Given the description of an element on the screen output the (x, y) to click on. 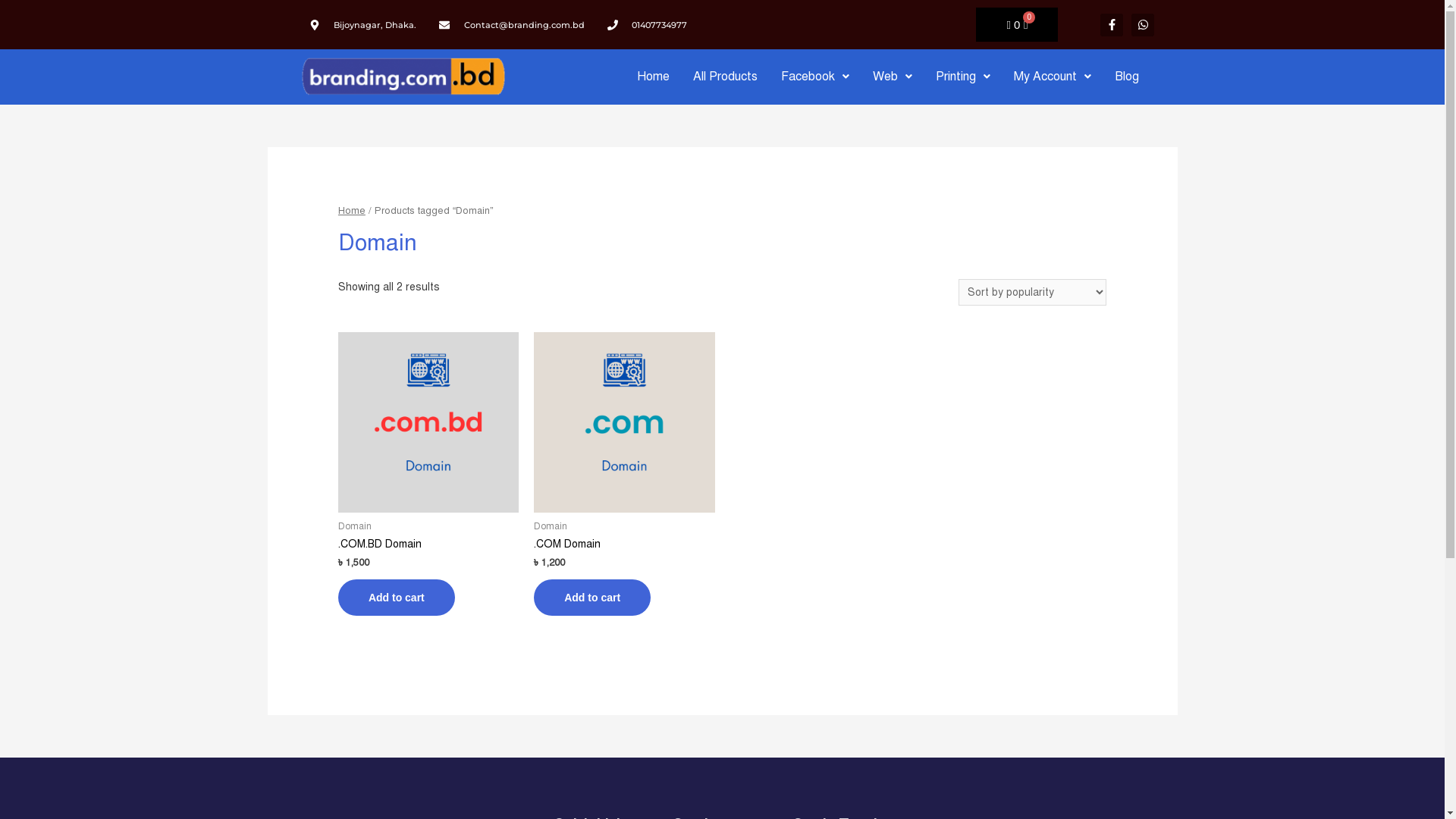
My Account Element type: text (1052, 76)
Facebook Element type: text (814, 76)
Printing Element type: text (962, 76)
Add to cart Element type: text (396, 597)
Blog Element type: text (1126, 76)
Home Element type: text (351, 210)
.COM.BD Domain Element type: text (428, 544)
All Products Element type: text (725, 76)
Add to cart Element type: text (591, 597)
Web Element type: text (892, 76)
.COM Domain Element type: text (623, 544)
Home Element type: text (653, 76)
